Given the description of an element on the screen output the (x, y) to click on. 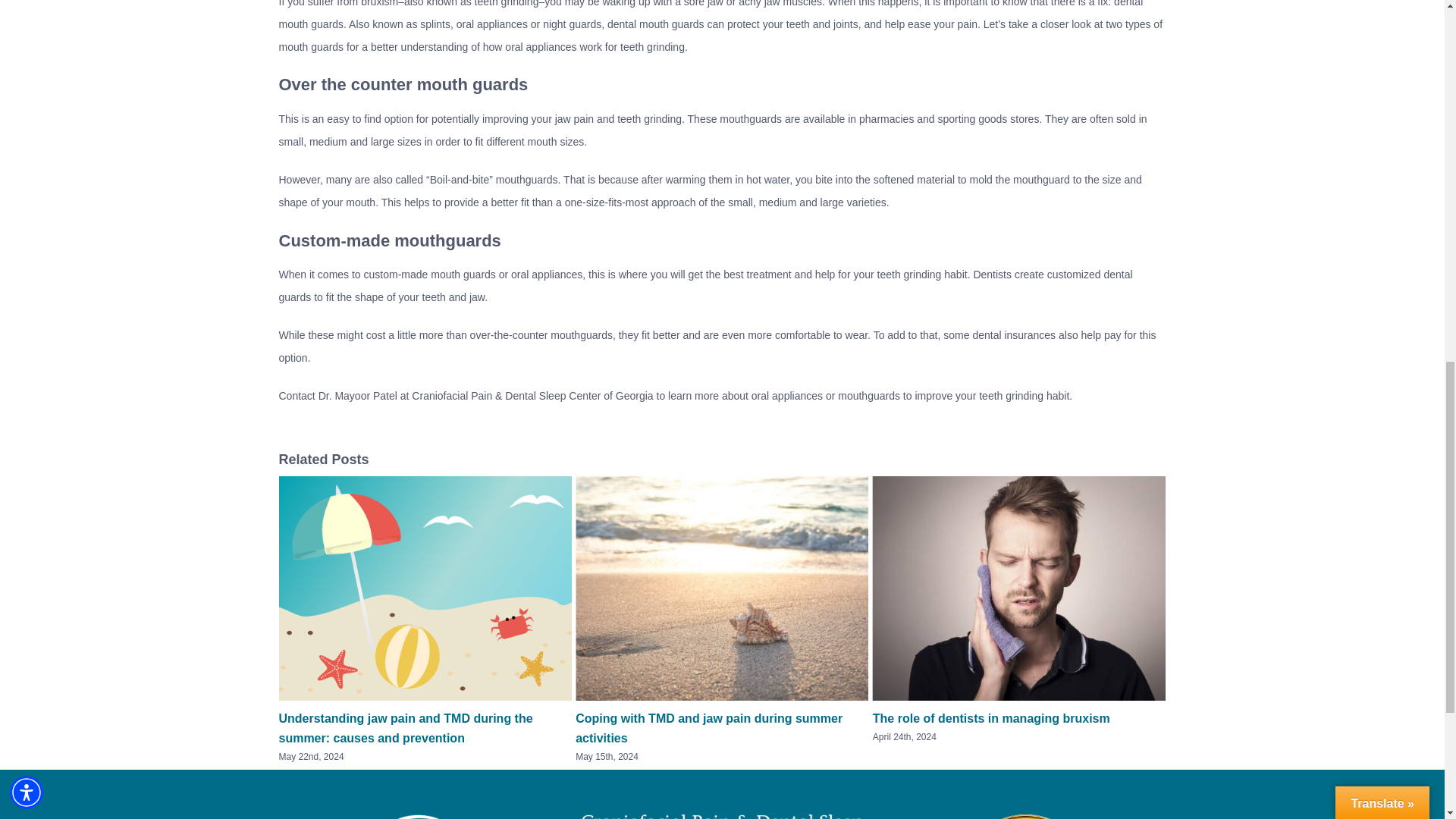
The role of dentists in managing bruxism (990, 717)
Coping with TMD and jaw pain during summer activities (709, 727)
